Given the description of an element on the screen output the (x, y) to click on. 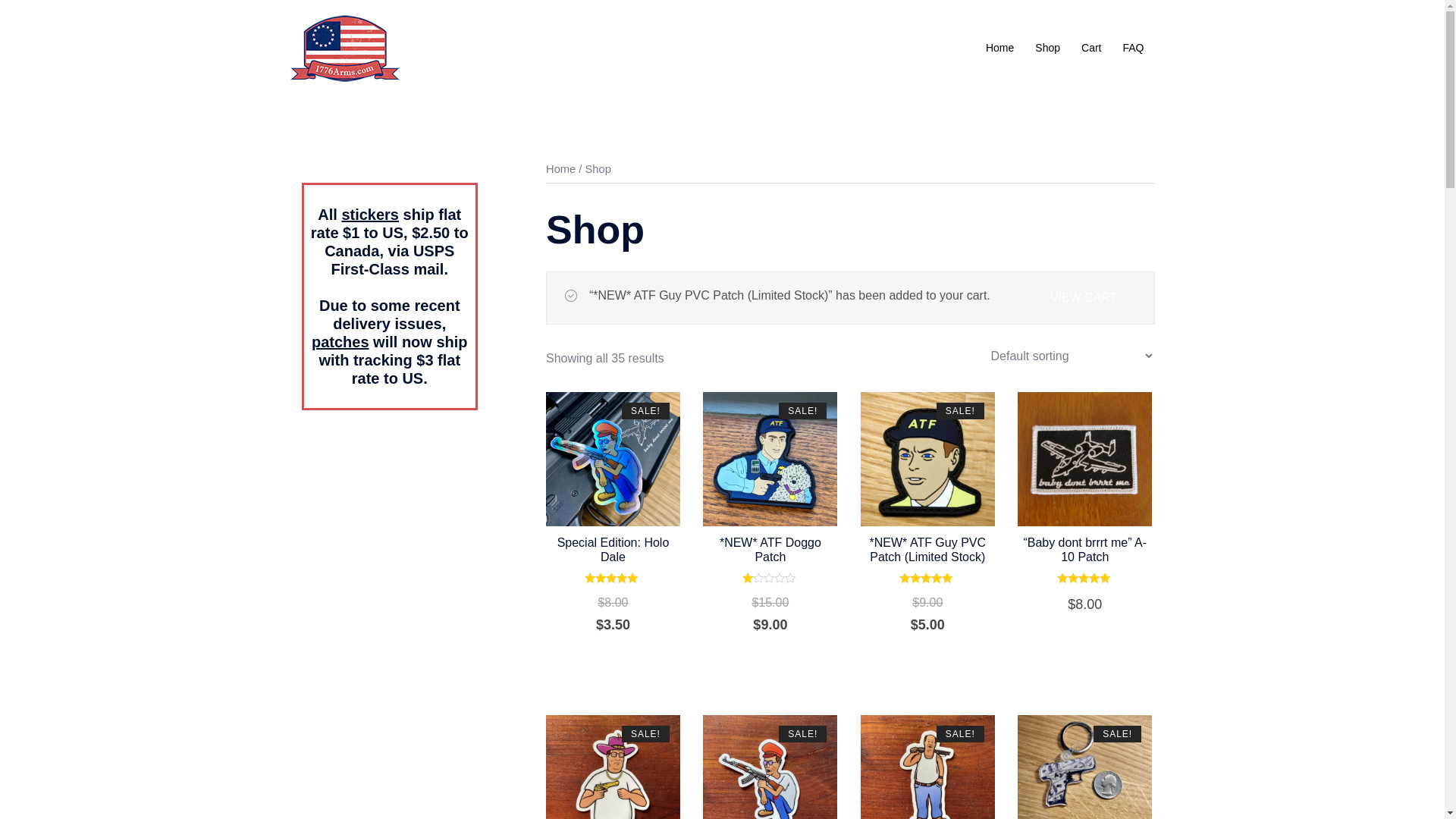
1776Arms.com Element type: hover (343, 46)
Home Element type: text (560, 169)
*NEW* ATF Guy PVC Patch (Limited Stock) Element type: text (927, 549)
SALE! Element type: text (769, 459)
*NEW* ATF Doggo Patch Element type: text (769, 549)
Shop Element type: text (1047, 48)
Cart Element type: text (1091, 48)
READ MORE Element type: text (1085, 636)
ADD TO CART Element type: text (770, 657)
SALE! Element type: text (927, 459)
ADD TO CART Element type: text (927, 657)
SALE! Element type: text (613, 459)
ADD TO CART Element type: text (612, 657)
Special Edition: Holo Dale Element type: text (613, 549)
FAQ Element type: text (1132, 48)
Home Element type: text (999, 48)
VIEW CART Element type: text (1083, 297)
